Given the description of an element on the screen output the (x, y) to click on. 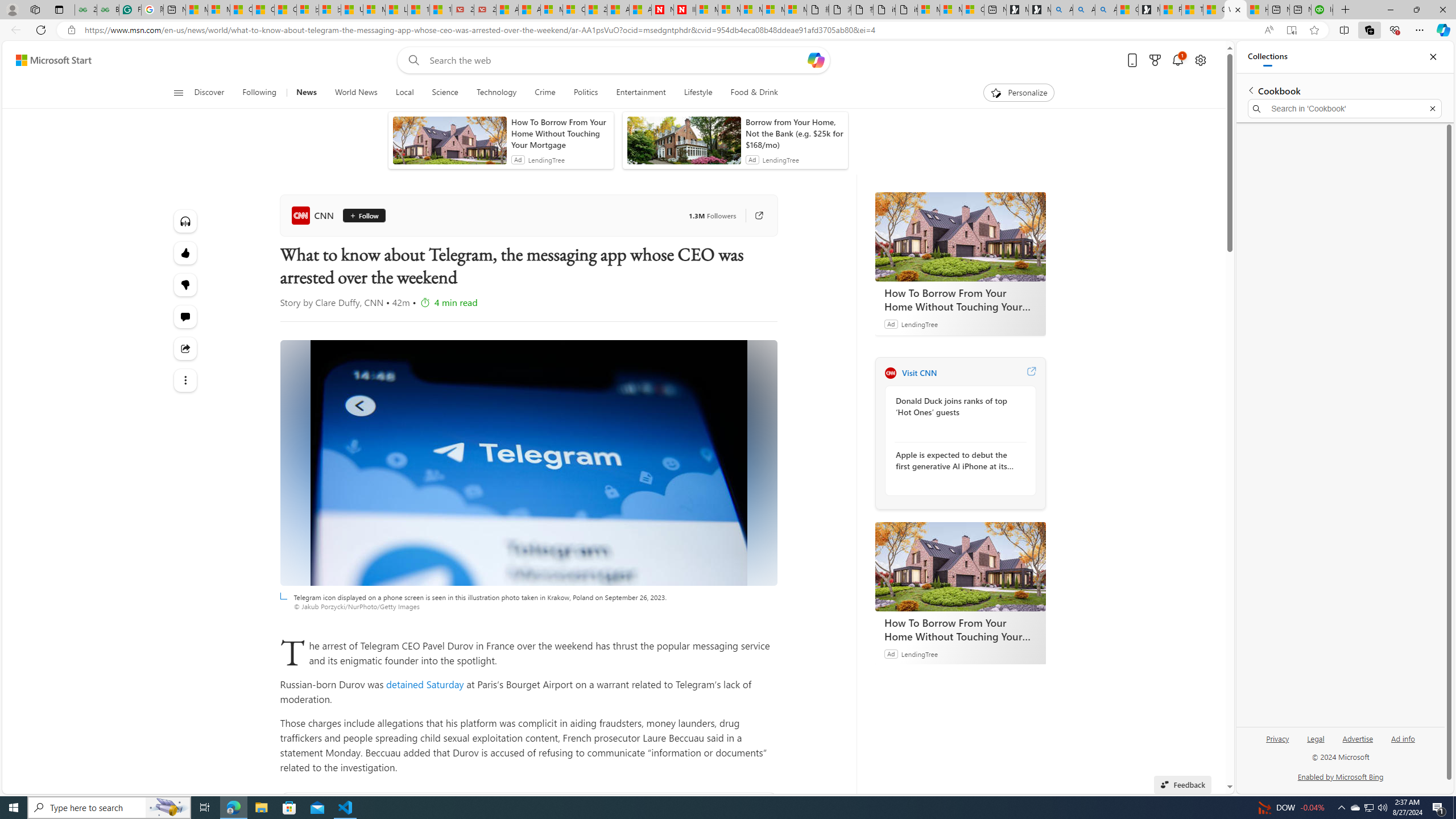
Exit search (1432, 108)
20 Ways to Boost Your Protein Intake at Every Meal (595, 9)
Class: at-item (184, 380)
Illness news & latest pictures from Newsweek.com (684, 9)
